Given the description of an element on the screen output the (x, y) to click on. 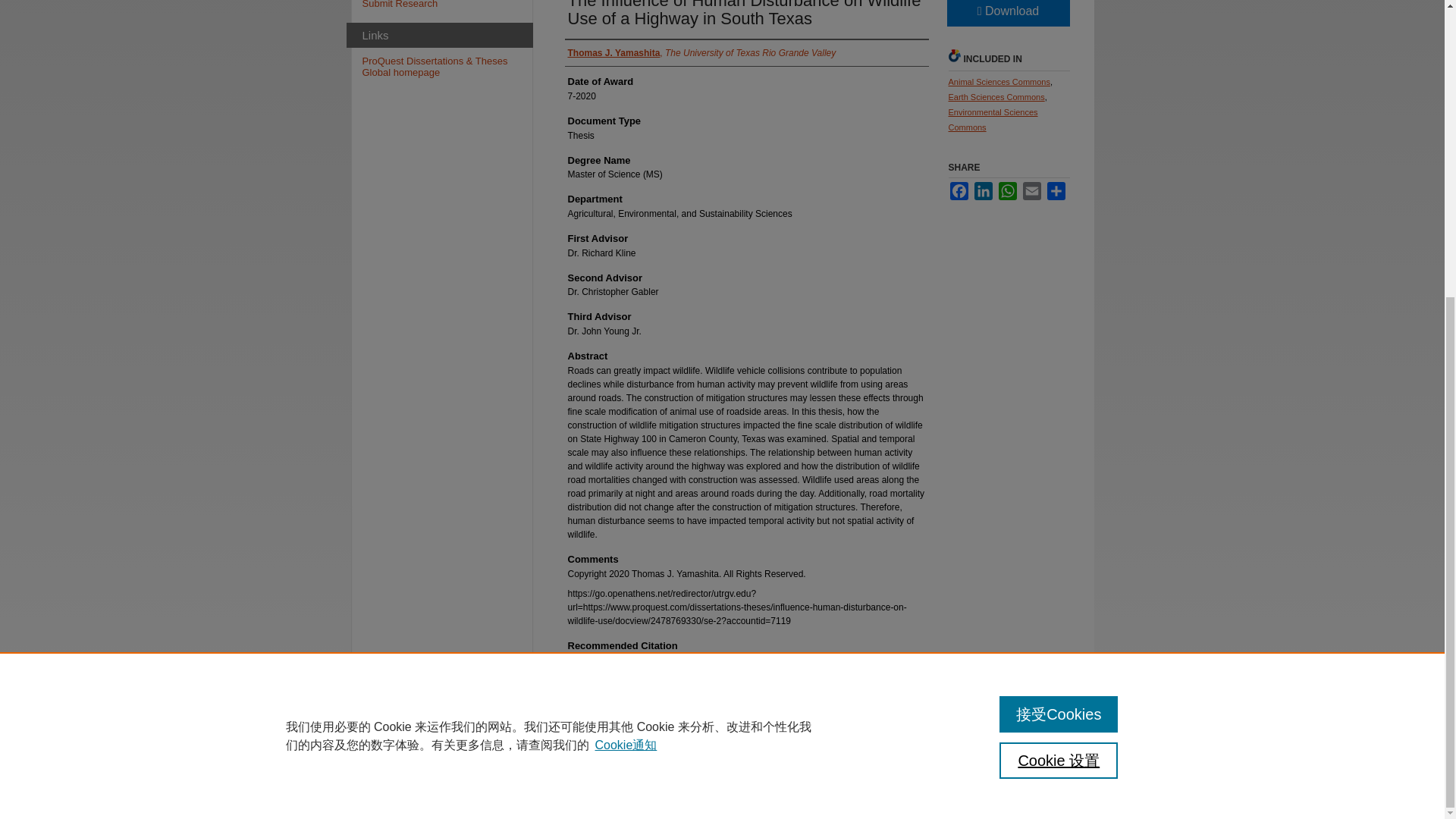
Animal Sciences Commons (998, 81)
WhatsApp (1006, 190)
Facebook (958, 190)
Animal Sciences Commons (998, 81)
Submit Research (447, 4)
Download (1007, 13)
Earth Sciences Commons (995, 96)
Environmental Sciences Commons (991, 119)
Earth Sciences Commons (995, 96)
Email (1031, 190)
Environmental Sciences Commons (991, 119)
LinkedIn (982, 190)
